Given the description of an element on the screen output the (x, y) to click on. 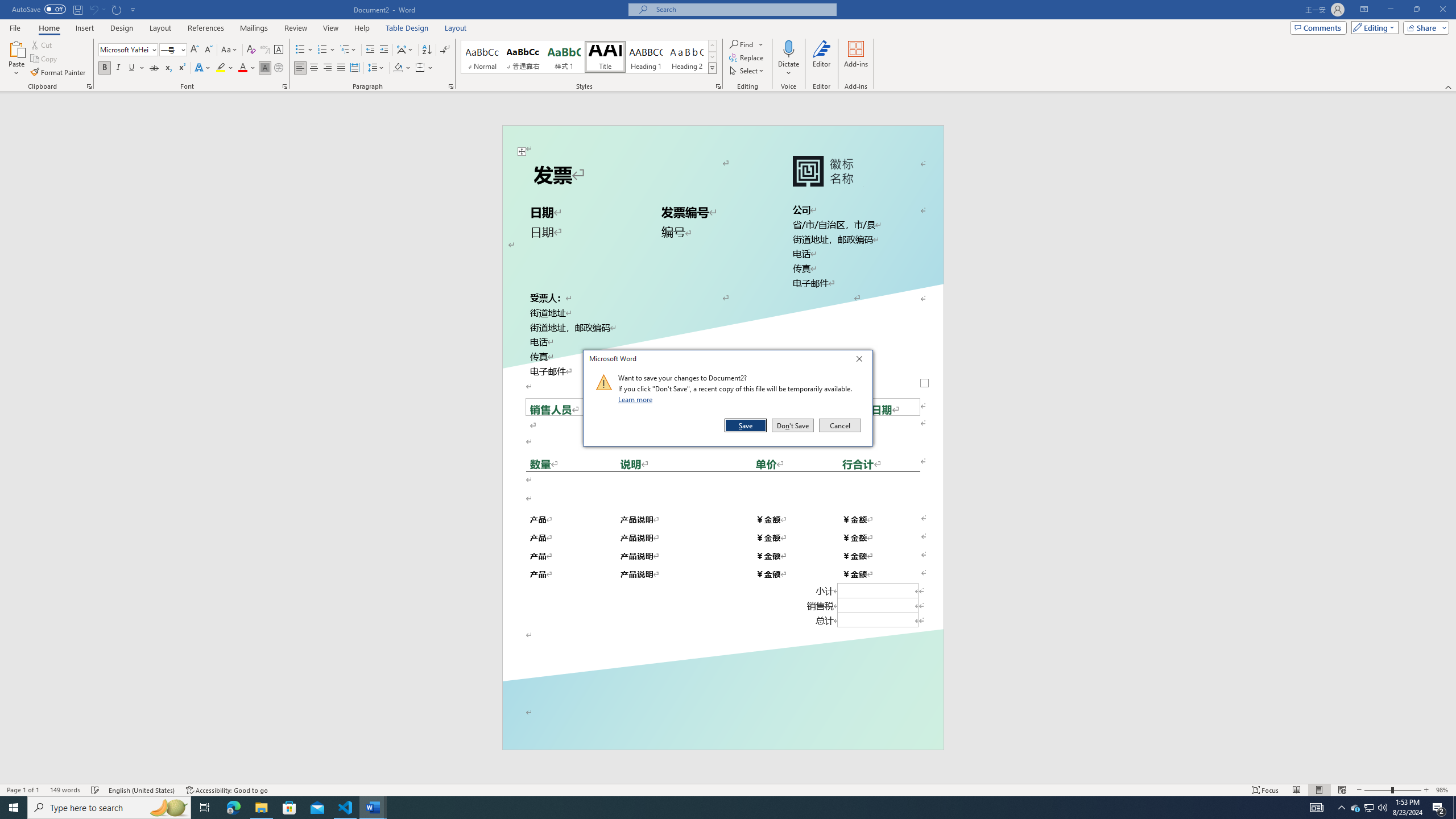
Web Layout (1342, 790)
Justify (340, 67)
Restore Down (1416, 9)
Cut (42, 44)
Page Number Page 1 of 1 (22, 790)
Clear Formatting (250, 49)
Paste (16, 58)
Text Highlight Color (224, 67)
First Page Footer -Section 1- (722, 723)
Class: MsoCommandBar (728, 789)
Repeat Default Char Shading (117, 9)
Q2790: 100% (1382, 807)
Mode (1372, 27)
Increase Indent (383, 49)
Underline (131, 67)
